Given the description of an element on the screen output the (x, y) to click on. 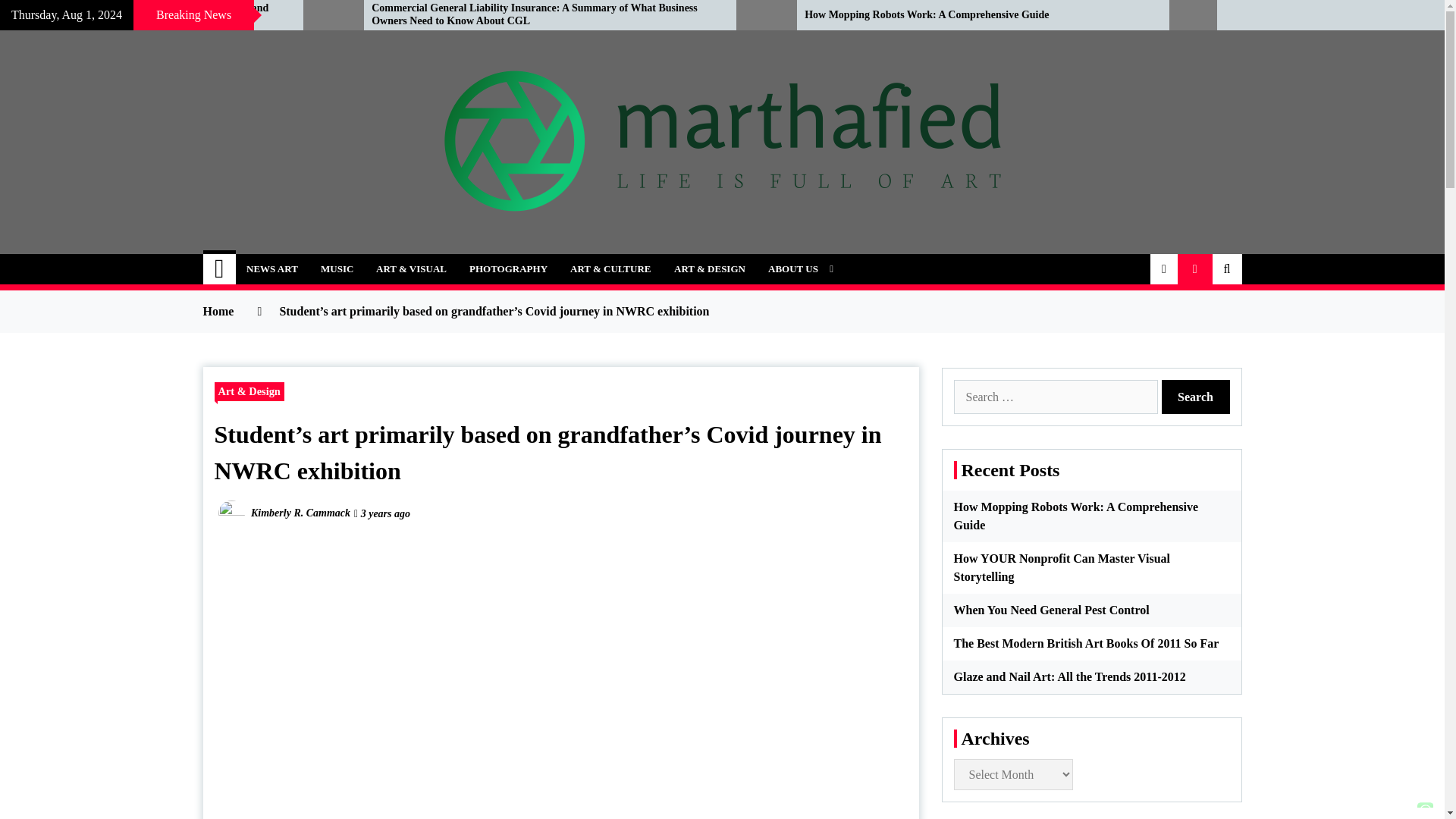
Search (1195, 397)
Search (1195, 397)
Home (219, 268)
How Mopping Robots Work: A Comprehensive Guide (976, 15)
